Given the description of an element on the screen output the (x, y) to click on. 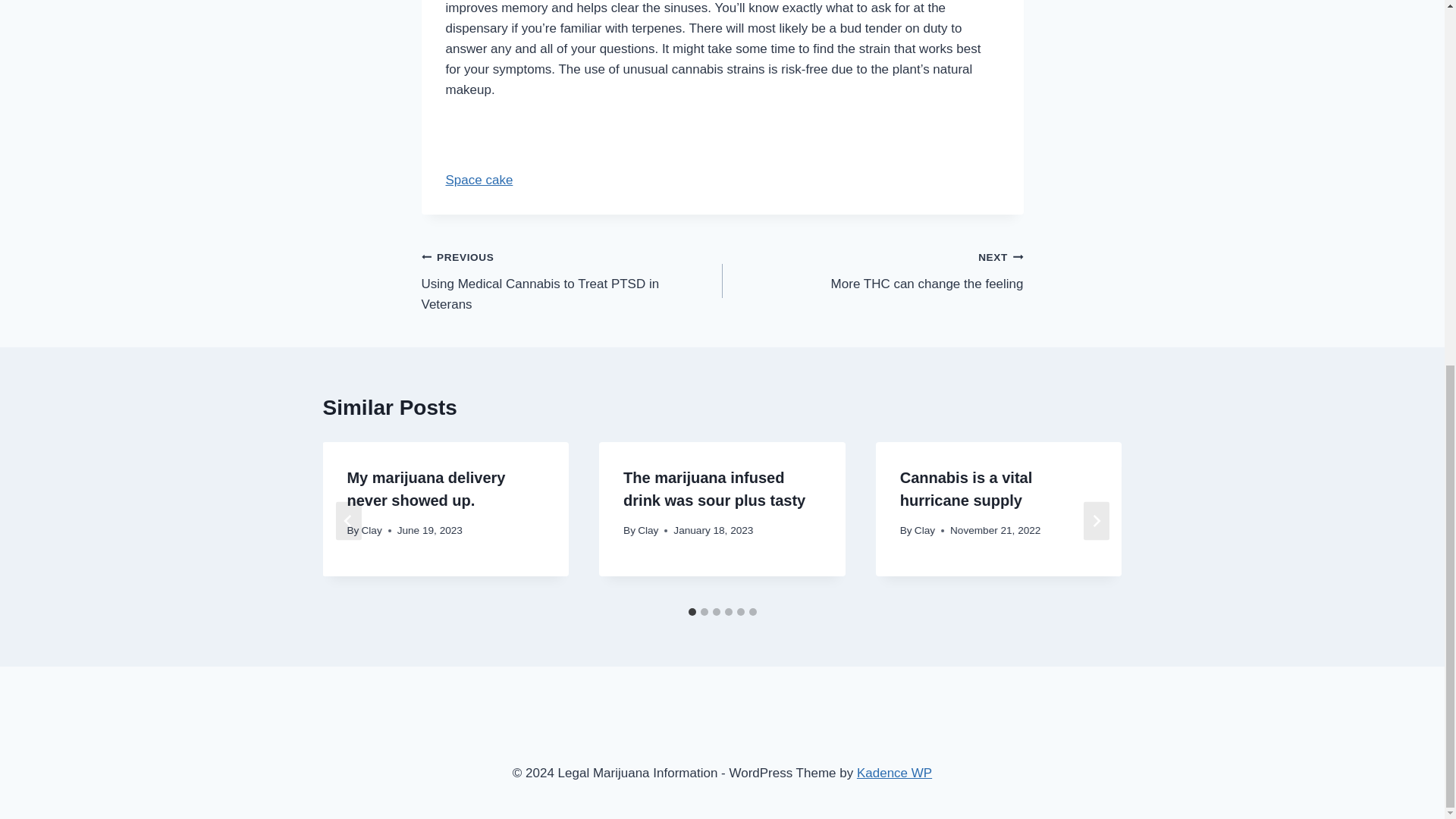
Space cake (572, 280)
Clay (872, 270)
My marijuana delivery never showed up. (479, 179)
